Given the description of an element on the screen output the (x, y) to click on. 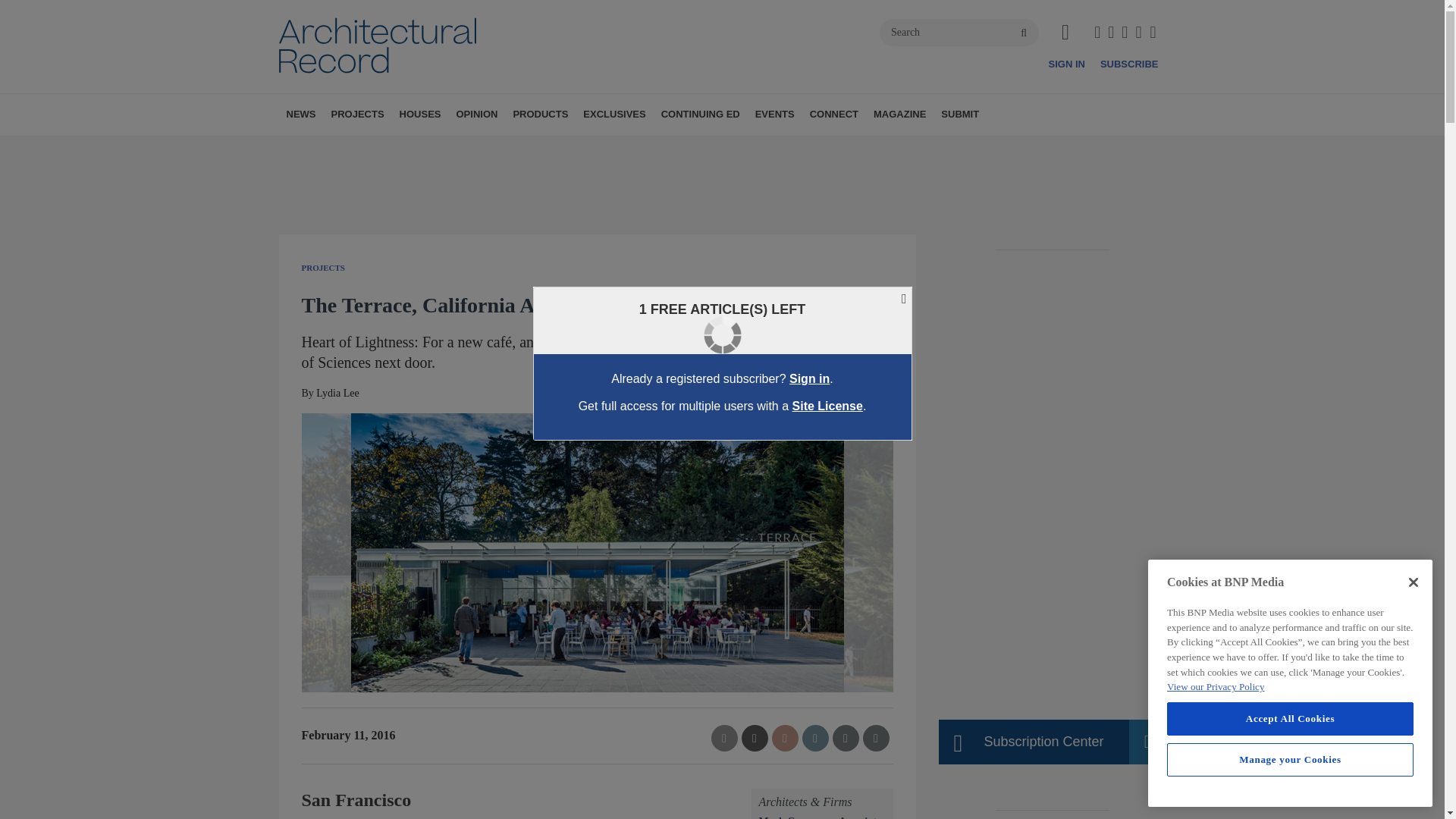
Search (959, 31)
Search (959, 31)
